Given the description of an element on the screen output the (x, y) to click on. 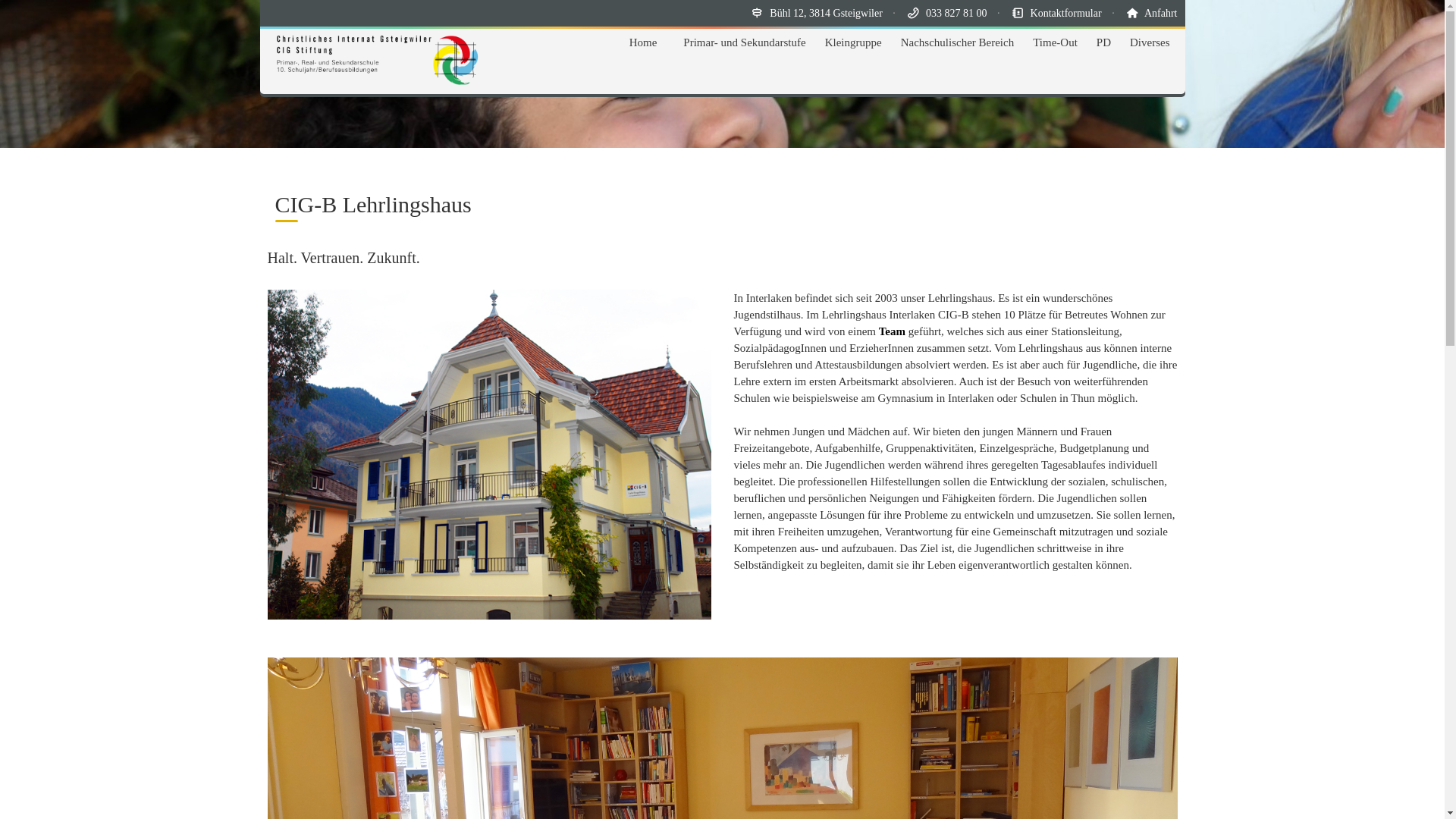
Anfahrt Element type: text (1160, 12)
Team Element type: text (891, 331)
Kleingruppe Element type: text (853, 42)
PD Element type: text (1103, 42)
Kontaktformular Element type: text (1065, 12)
Nachschulischer Bereich Element type: text (957, 42)
Home Element type: text (643, 42)
Primar- und Sekundarstufe Element type: text (744, 42)
Time-Out Element type: text (1054, 42)
Diverses Element type: text (1149, 42)
Lehrlingshaus Element type: hover (488, 454)
